Given the description of an element on the screen output the (x, y) to click on. 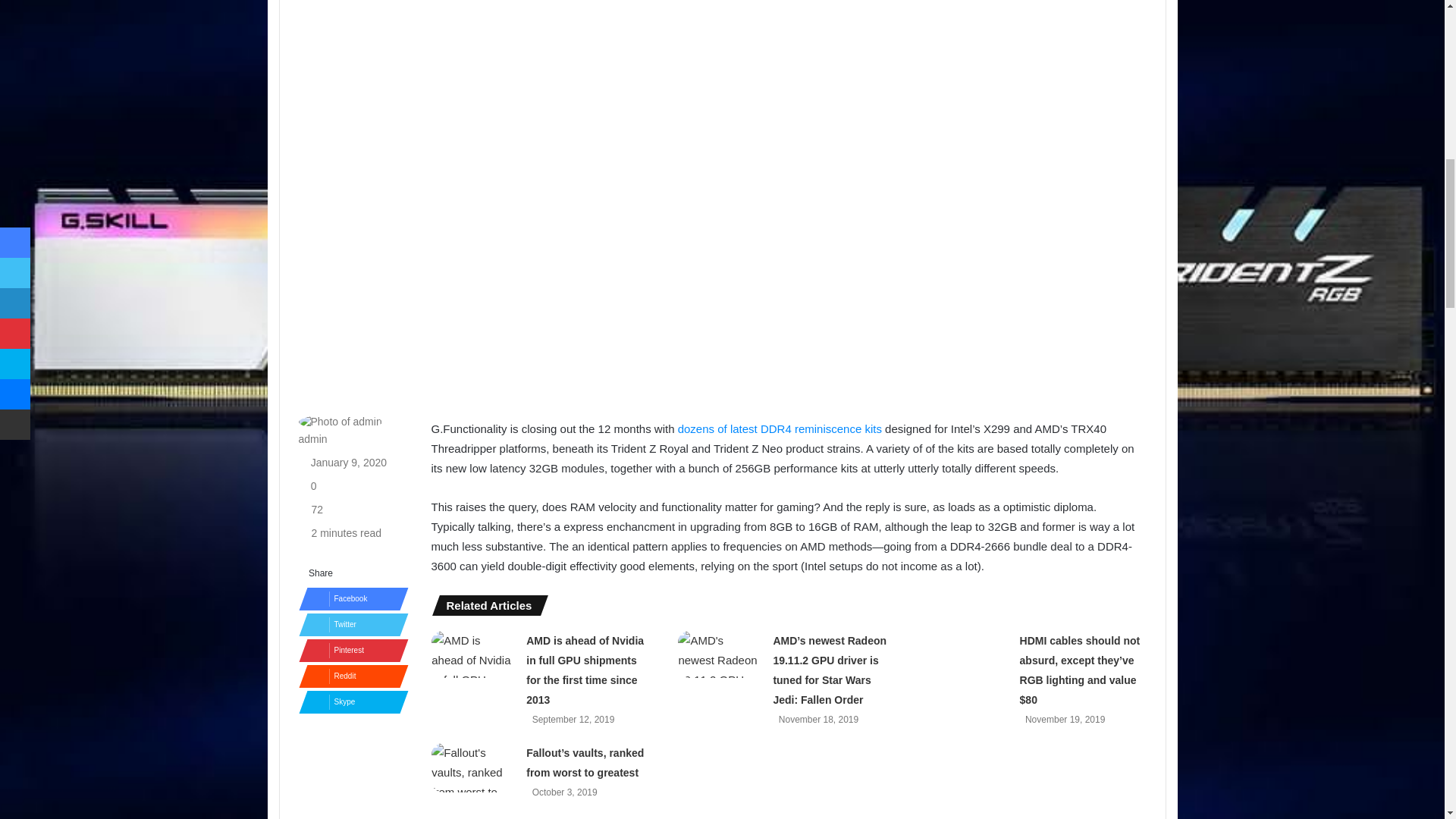
1570117149 Fallouts vaults ranked from worst to best (472, 767)
Facebook (348, 599)
admin (312, 439)
AMDs latest Radeon 19.11.2 GPU driver is tuned for Star (719, 654)
